Given the description of an element on the screen output the (x, y) to click on. 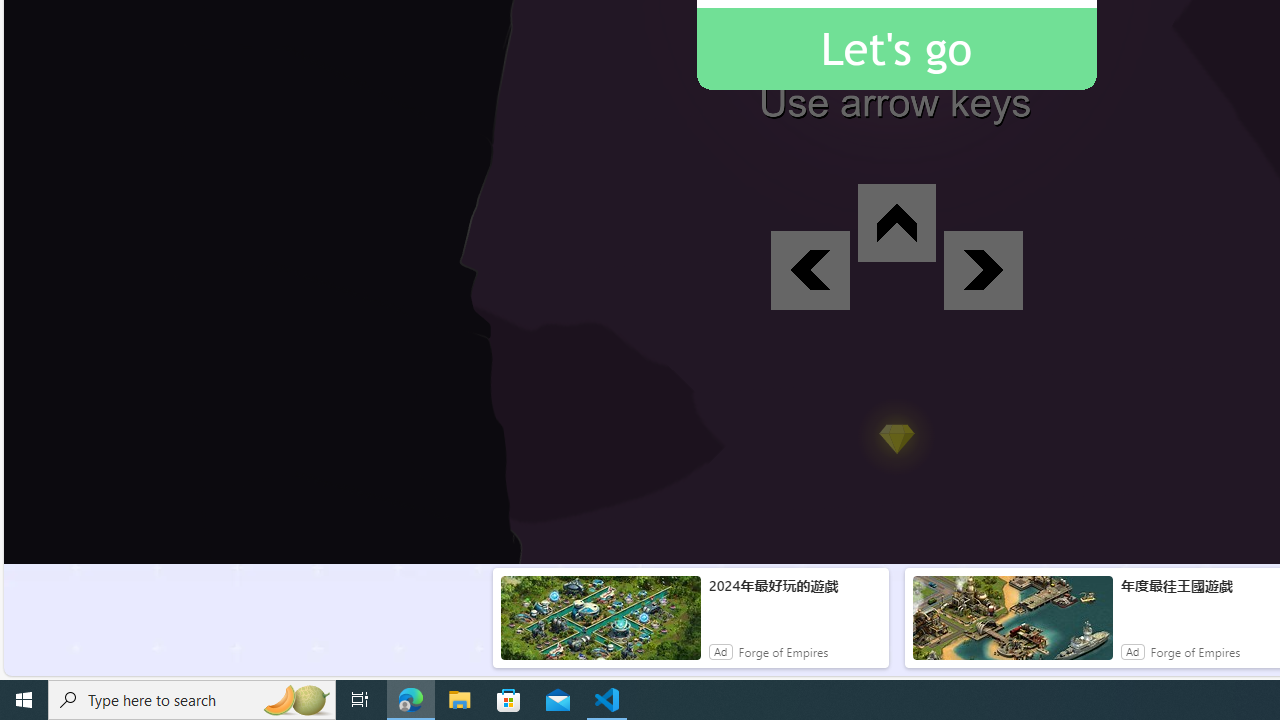
Forge of Empires (1195, 651)
Ad (1133, 651)
anim-content (1012, 626)
